Given the description of an element on the screen output the (x, y) to click on. 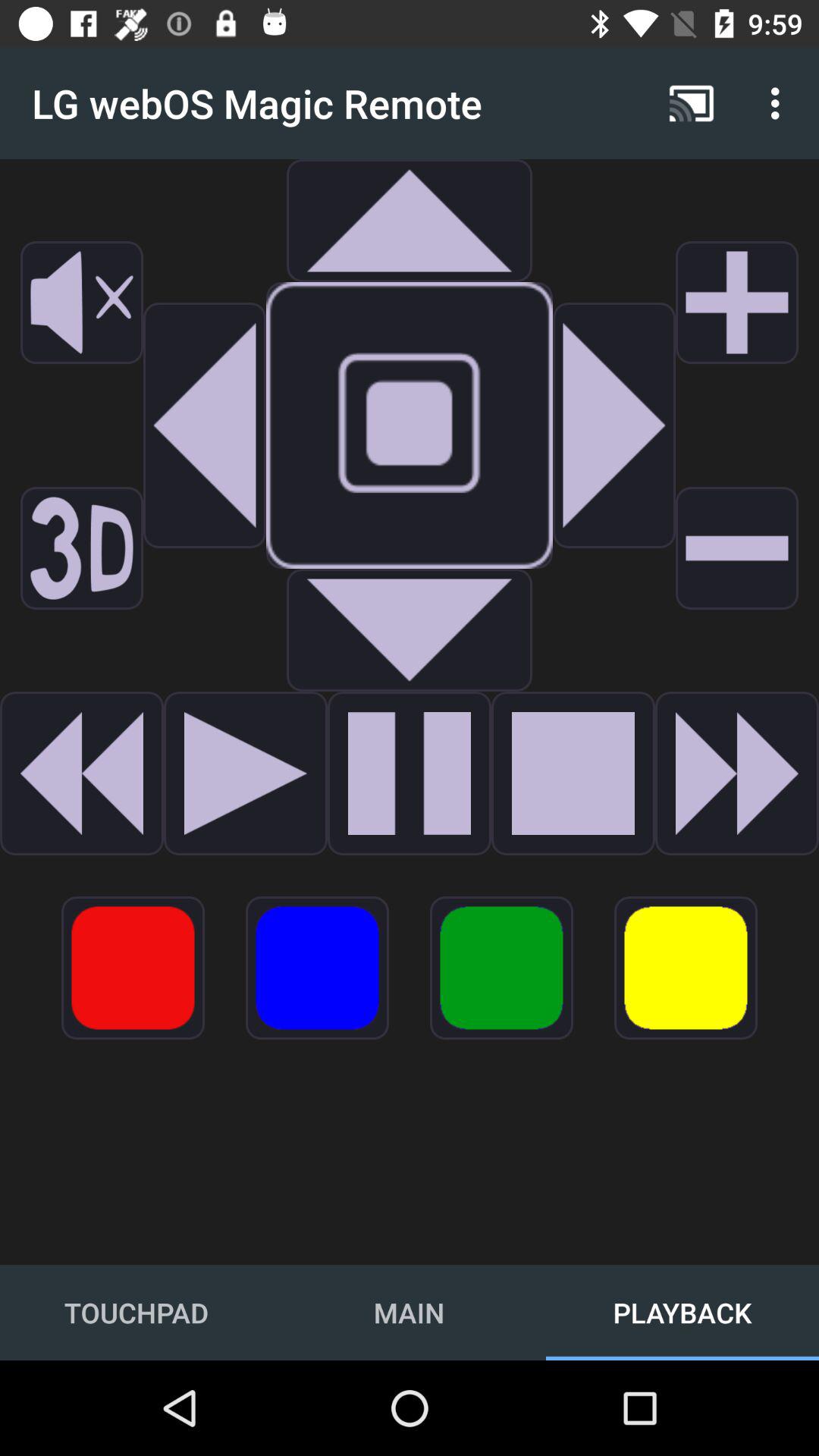
pause option (409, 773)
